Given the description of an element on the screen output the (x, y) to click on. 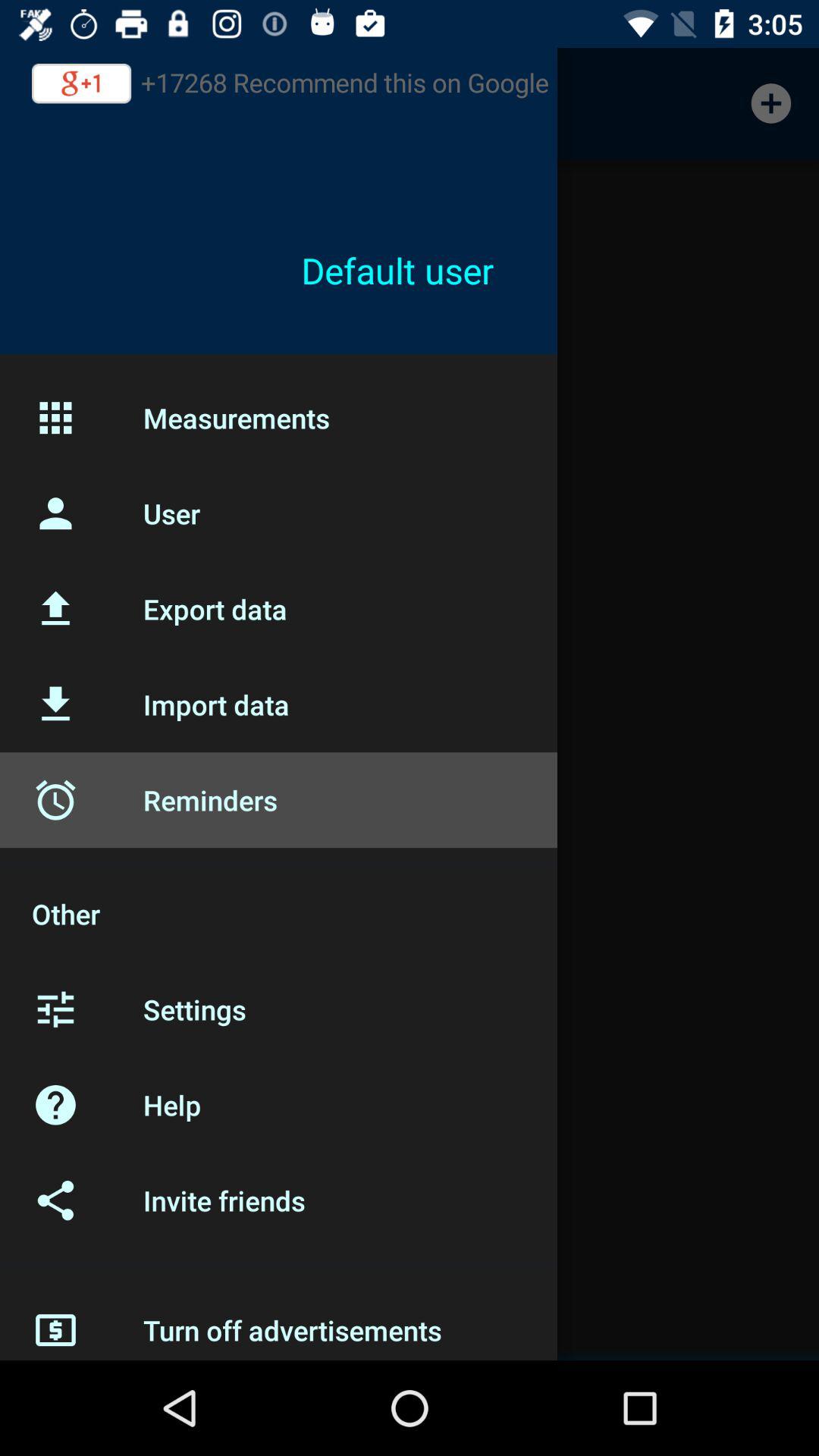
click on the icon at the top right corner (771, 103)
